Given the description of an element on the screen output the (x, y) to click on. 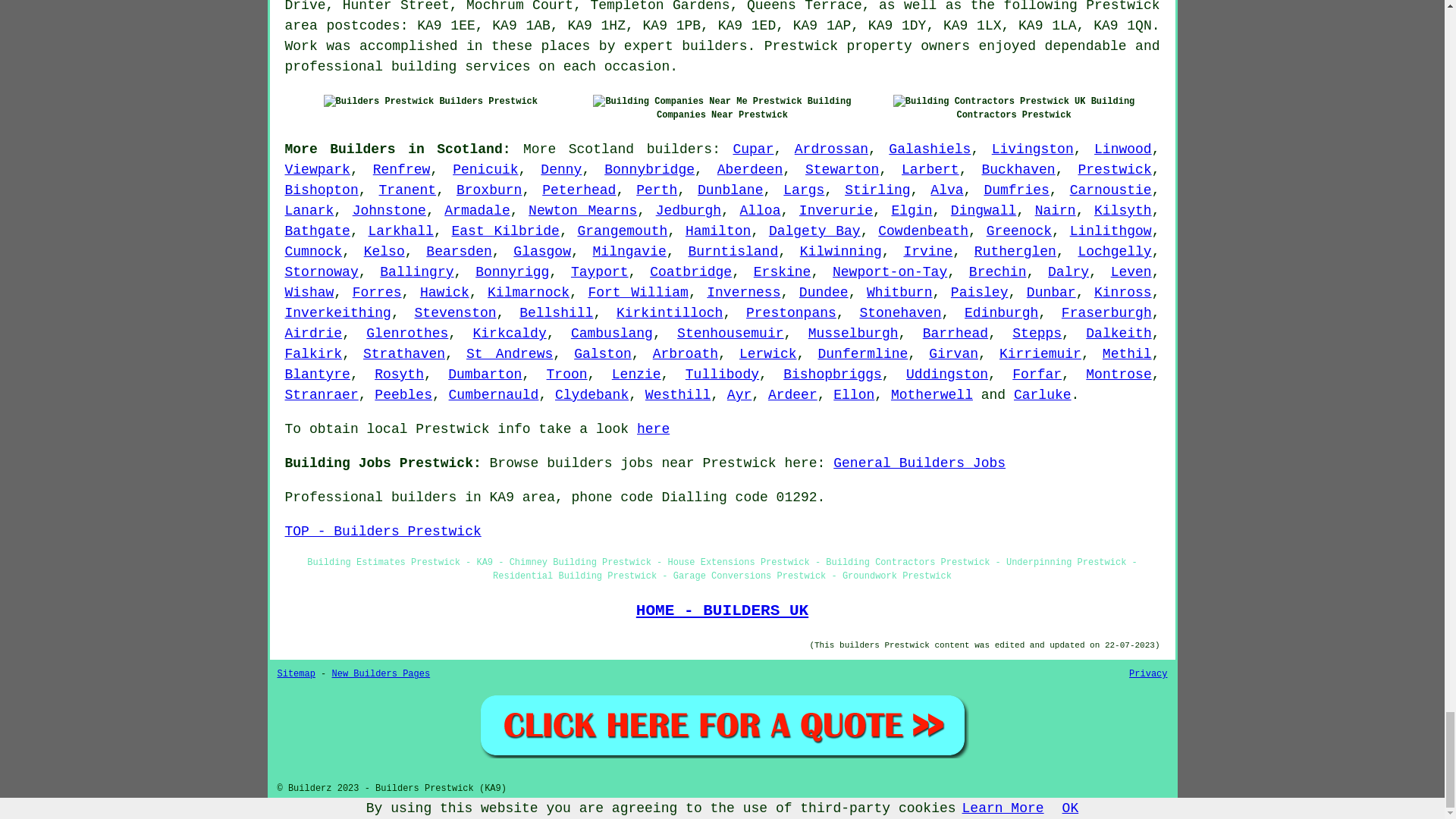
Building Contractors Prestwick UK (989, 101)
QUOTES FROM BUILDERS PRESTWICK (722, 725)
Builders Prestwick (378, 101)
Building Companies Near Me Prestwick (697, 101)
